Given the description of an element on the screen output the (x, y) to click on. 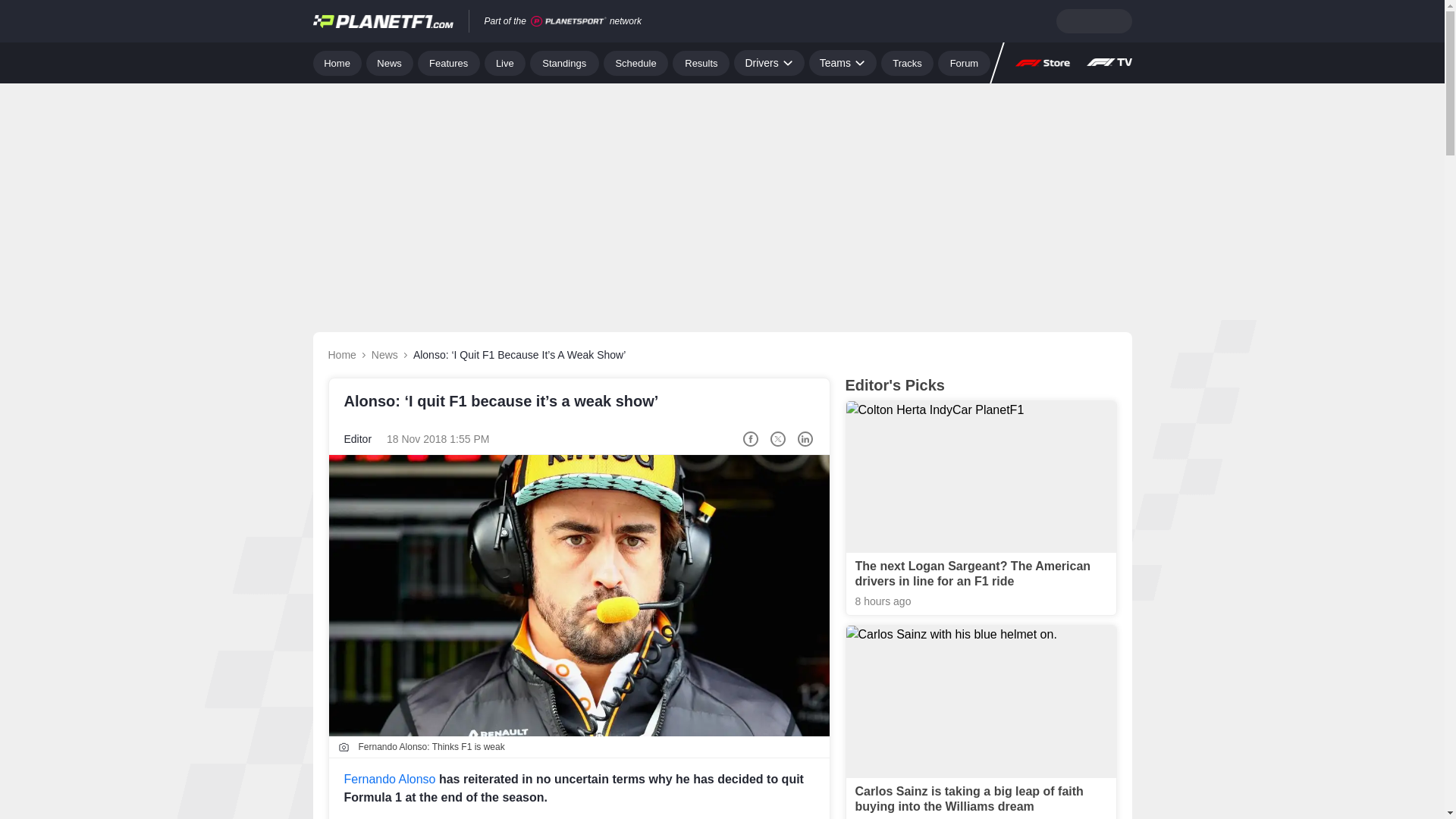
News (389, 62)
Results (700, 62)
Features (448, 62)
Teams (842, 62)
Schedule (636, 62)
Home (337, 62)
Live (504, 62)
Drivers (768, 62)
Standings (563, 62)
